Given the description of an element on the screen output the (x, y) to click on. 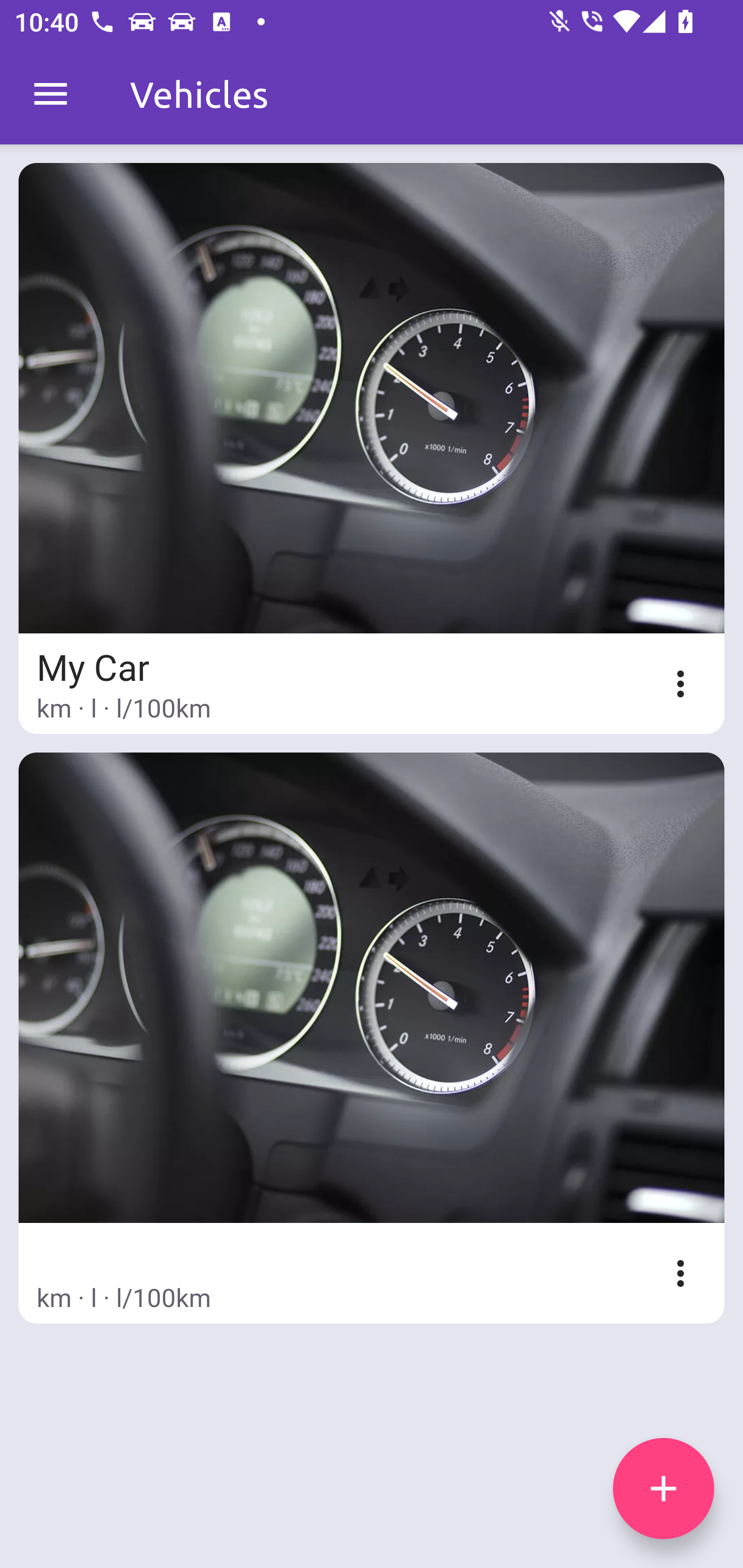
MenuDrawer (50, 93)
My Car km · l · l/100km (371, 448)
km · l · l/100km (371, 1037)
add icon (663, 1488)
